Given the description of an element on the screen output the (x, y) to click on. 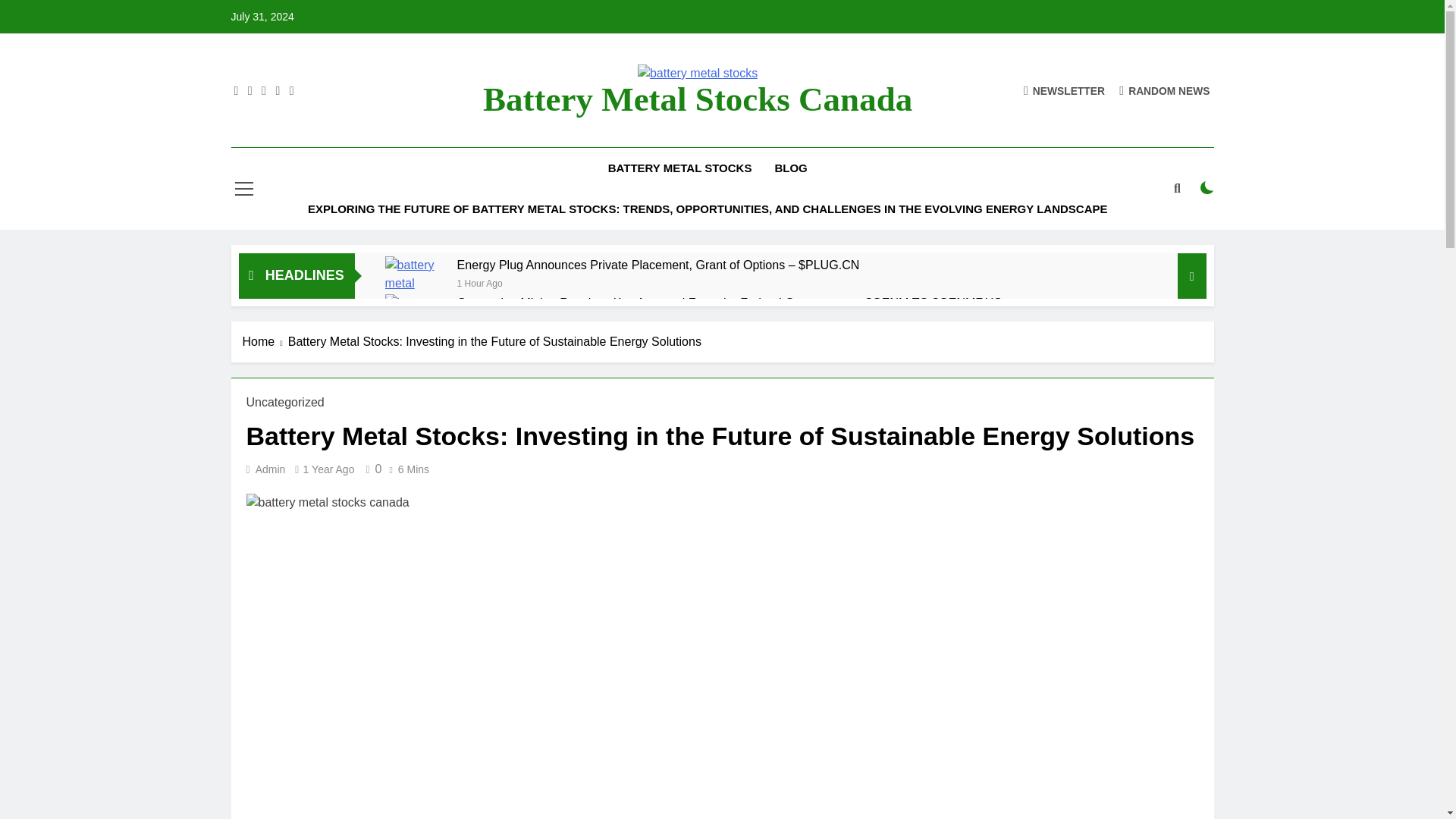
on (1206, 187)
1 Hour Ago (479, 282)
BLOG (790, 168)
BATTERY METAL STOCKS (679, 168)
Battery Metal Stocks Canada (697, 98)
NEWSLETTER (1064, 89)
RANDOM NEWS (1164, 89)
